Given the description of an element on the screen output the (x, y) to click on. 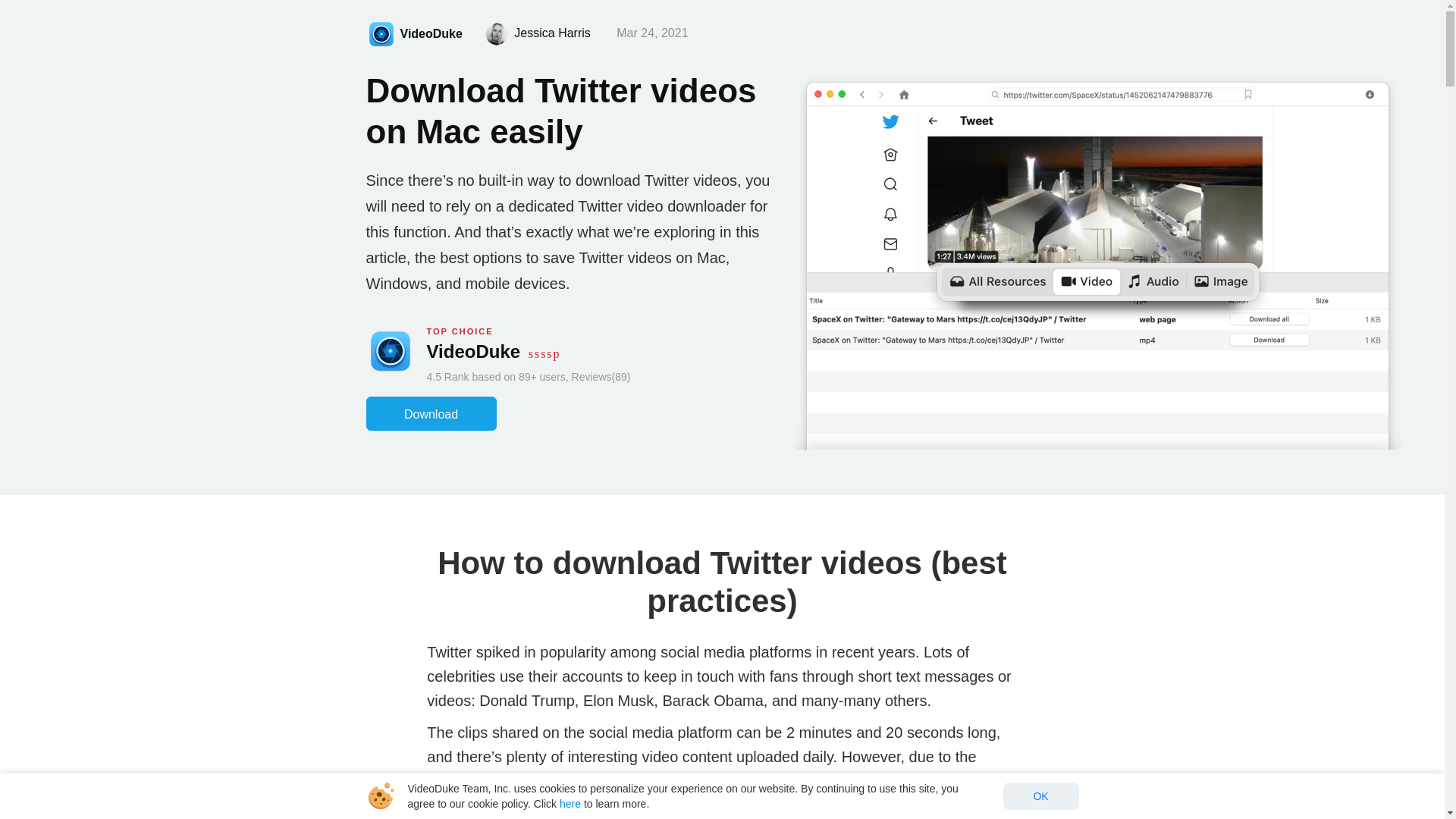
Jessica Harris (496, 33)
Download (430, 413)
Jessica Harris (553, 32)
here (569, 803)
VideoDuke (413, 34)
OK (1040, 795)
Jessica Harris (553, 32)
Policy (569, 803)
